Given the description of an element on the screen output the (x, y) to click on. 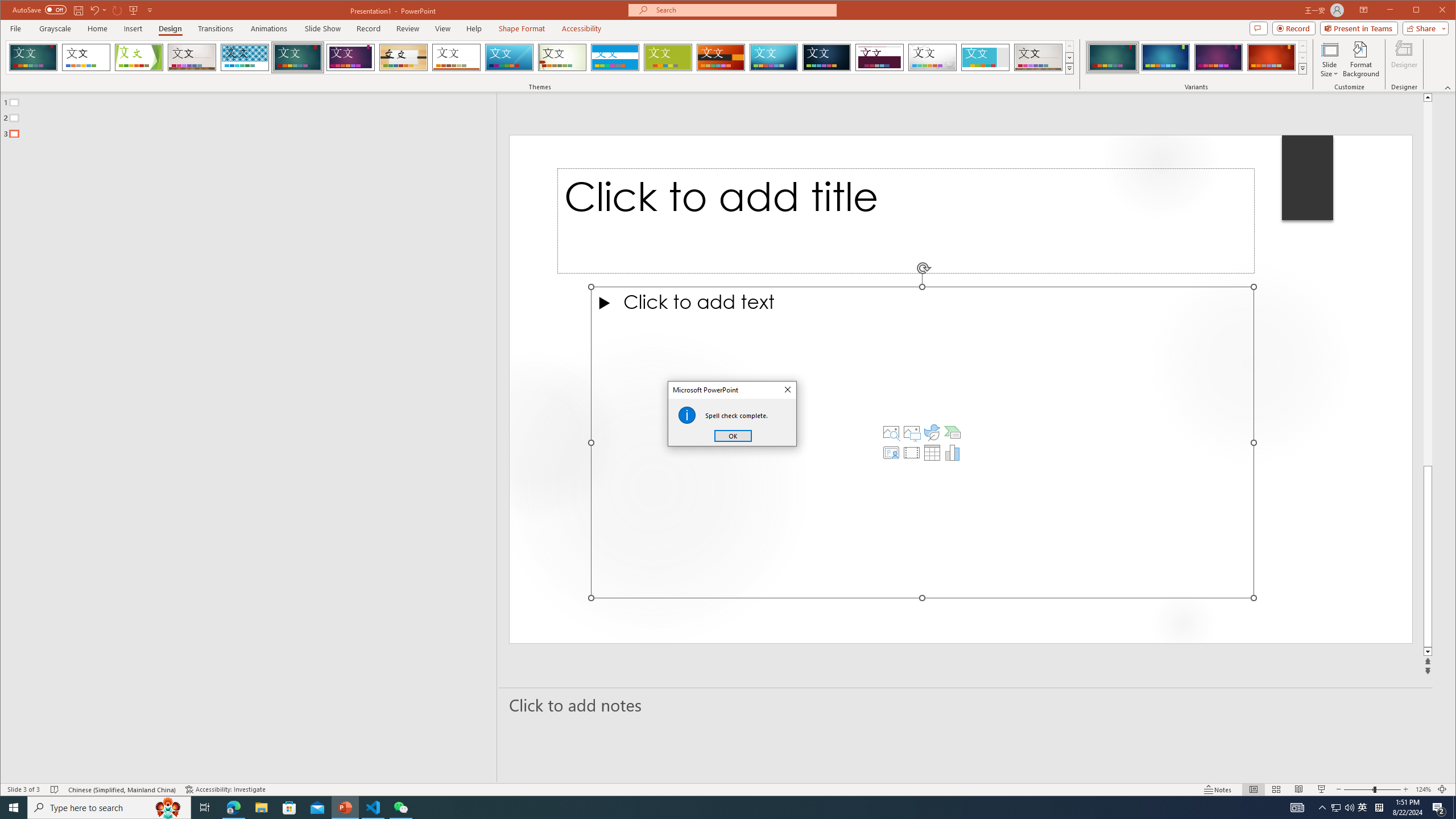
Slice (509, 57)
Organic (403, 57)
Ion Variant 3 (1218, 57)
